Given the description of an element on the screen output the (x, y) to click on. 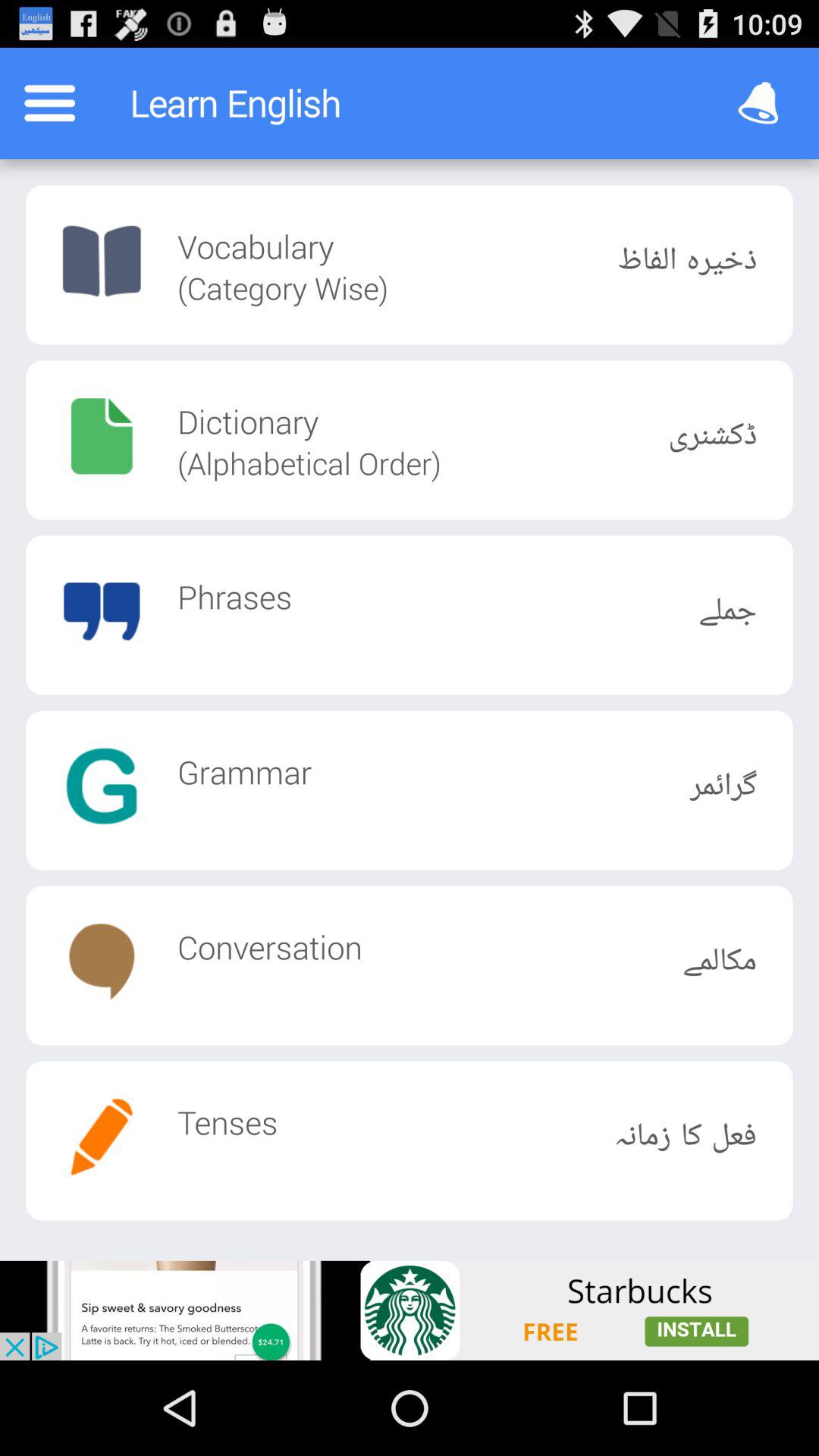
add option (409, 1310)
